Given the description of an element on the screen output the (x, y) to click on. 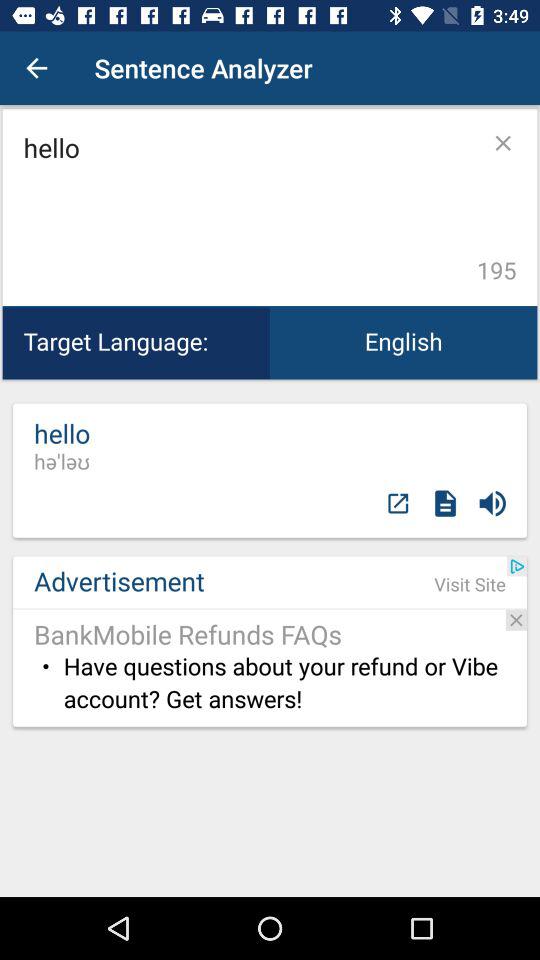
click item next to target language: item (403, 342)
